Given the description of an element on the screen output the (x, y) to click on. 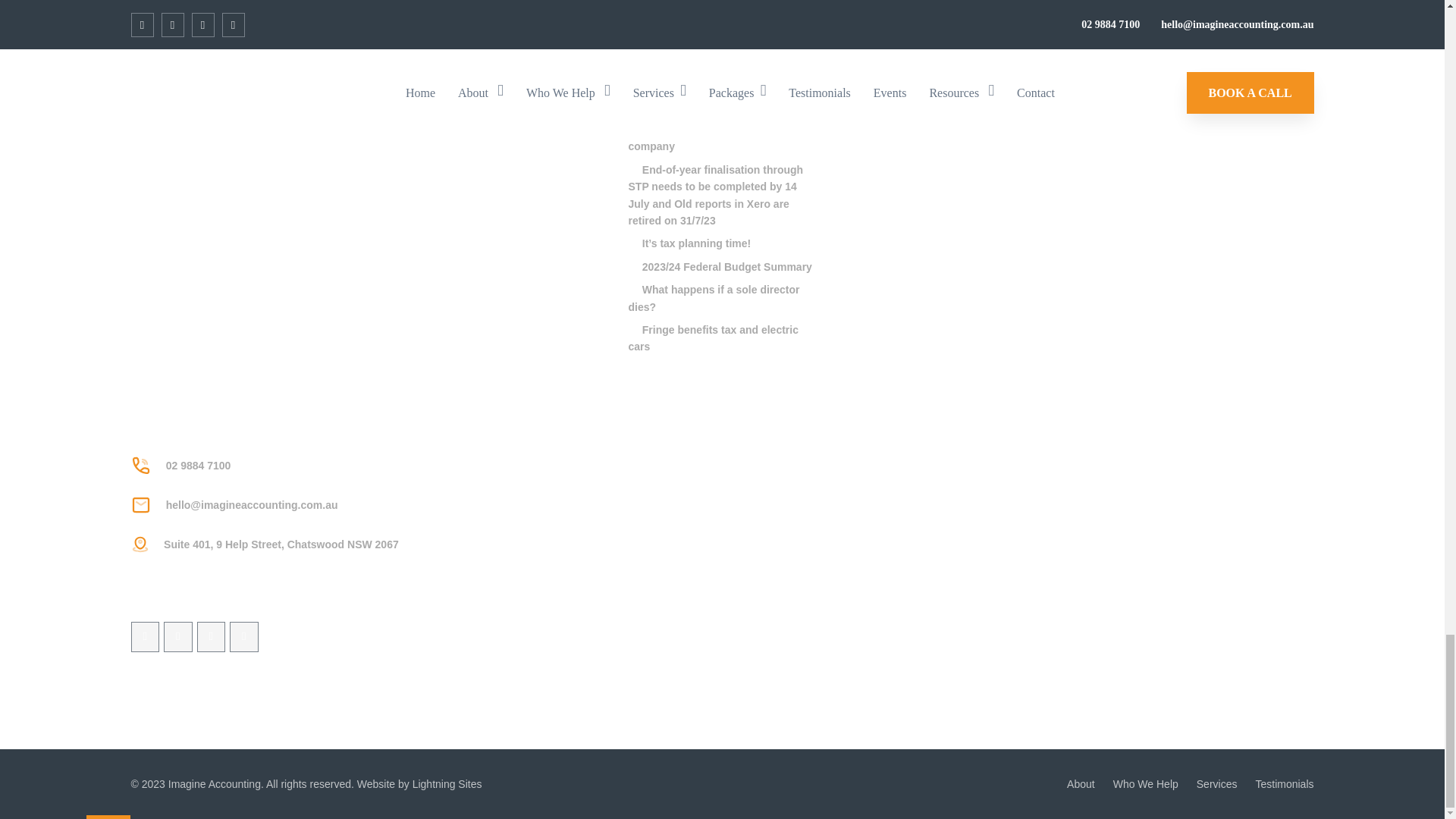
Google (177, 636)
Facebook (144, 636)
YouTube (244, 636)
LinkedIn (210, 636)
